Given the description of an element on the screen output the (x, y) to click on. 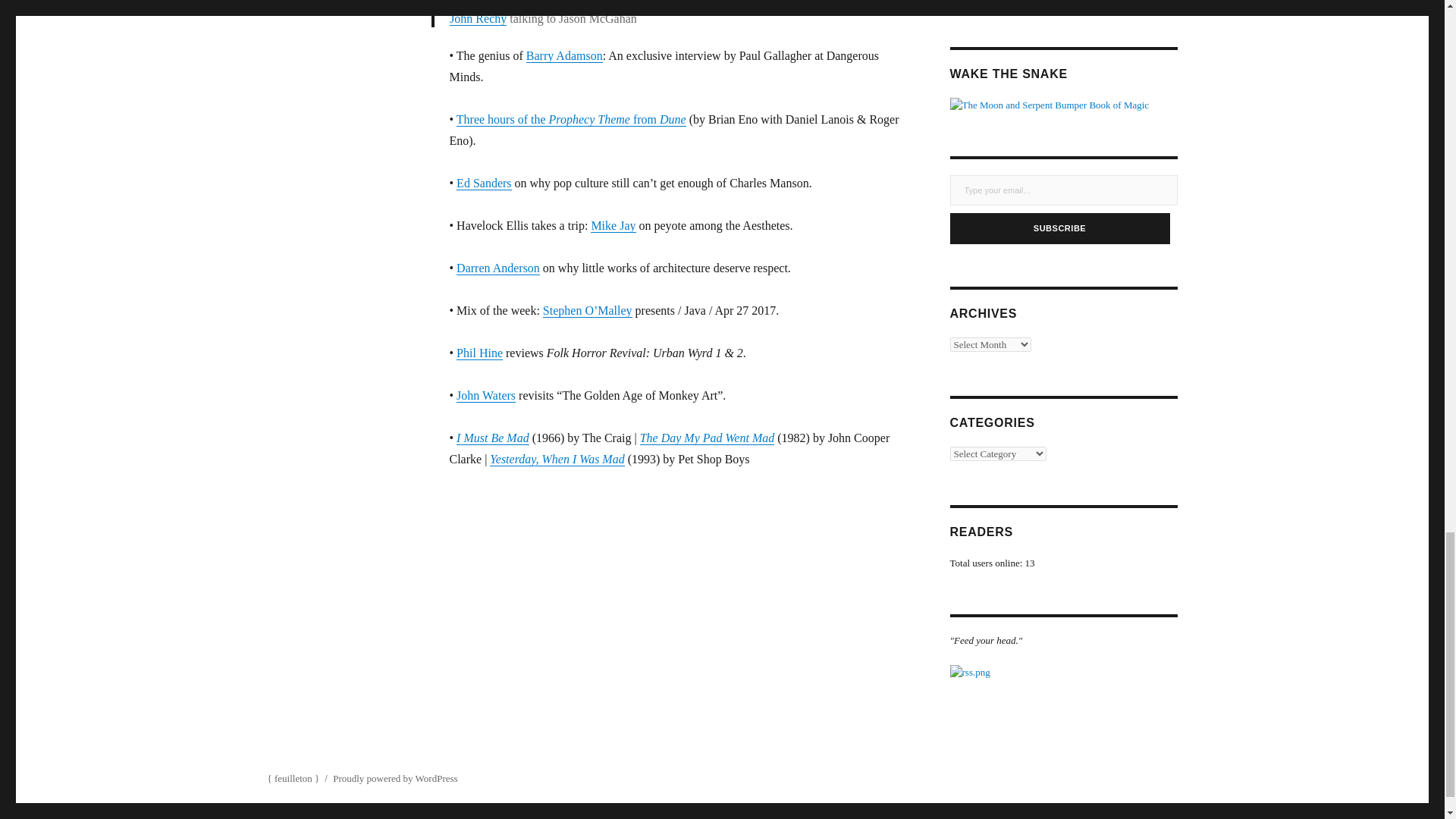
The Day My Pad Went Mad (707, 437)
Mike Jay (612, 225)
John Rechy (477, 18)
Please fill in this field. (1062, 190)
Darren Anderson (498, 267)
Three hours of the Prophecy Theme from Dune (571, 119)
I Must Be Mad (493, 437)
Ed Sanders (484, 182)
Yesterday, When I Was Mad (556, 459)
Barry Adamson (563, 55)
